Given the description of an element on the screen output the (x, y) to click on. 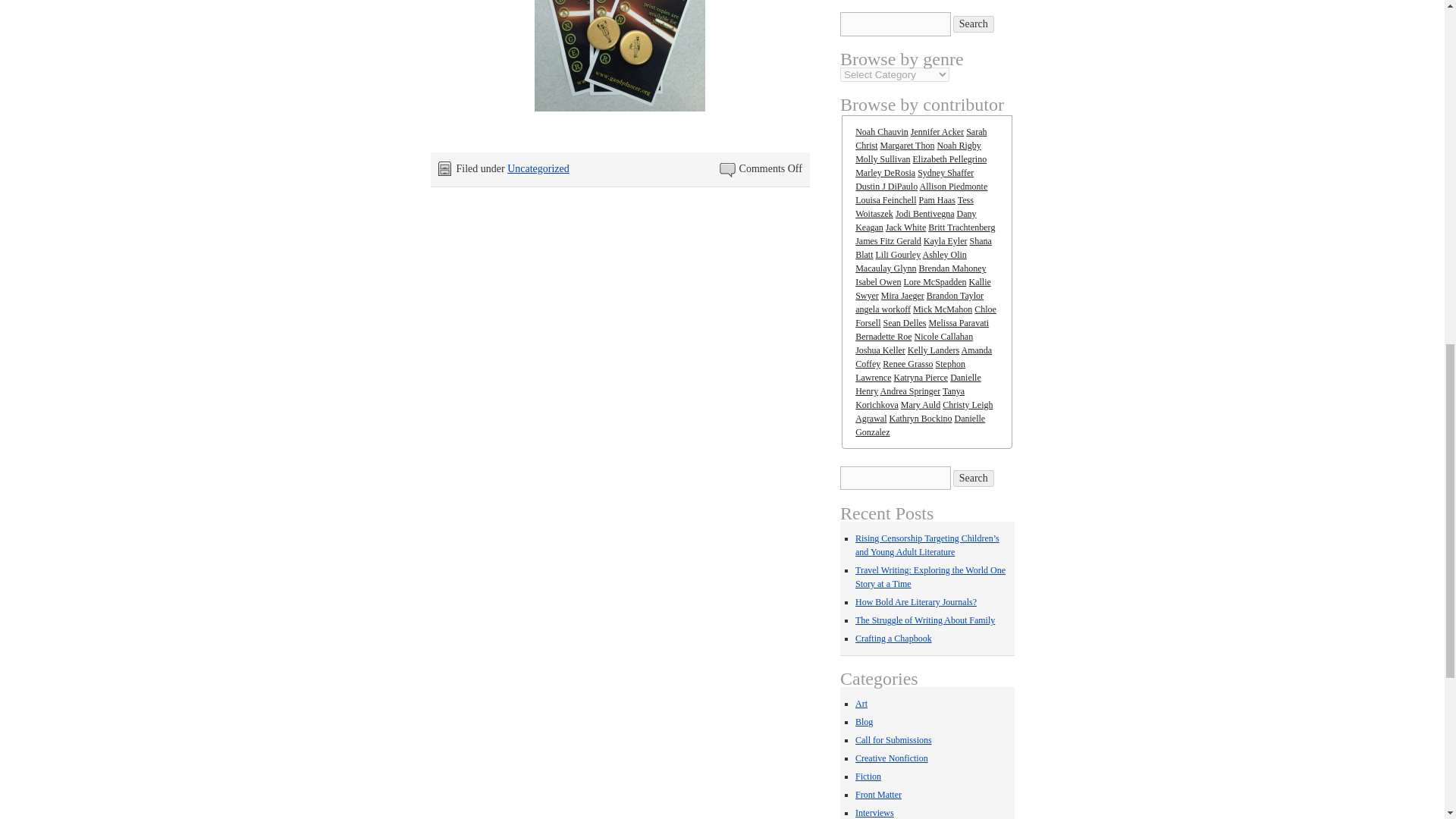
Search (973, 478)
Search (973, 23)
